Given the description of an element on the screen output the (x, y) to click on. 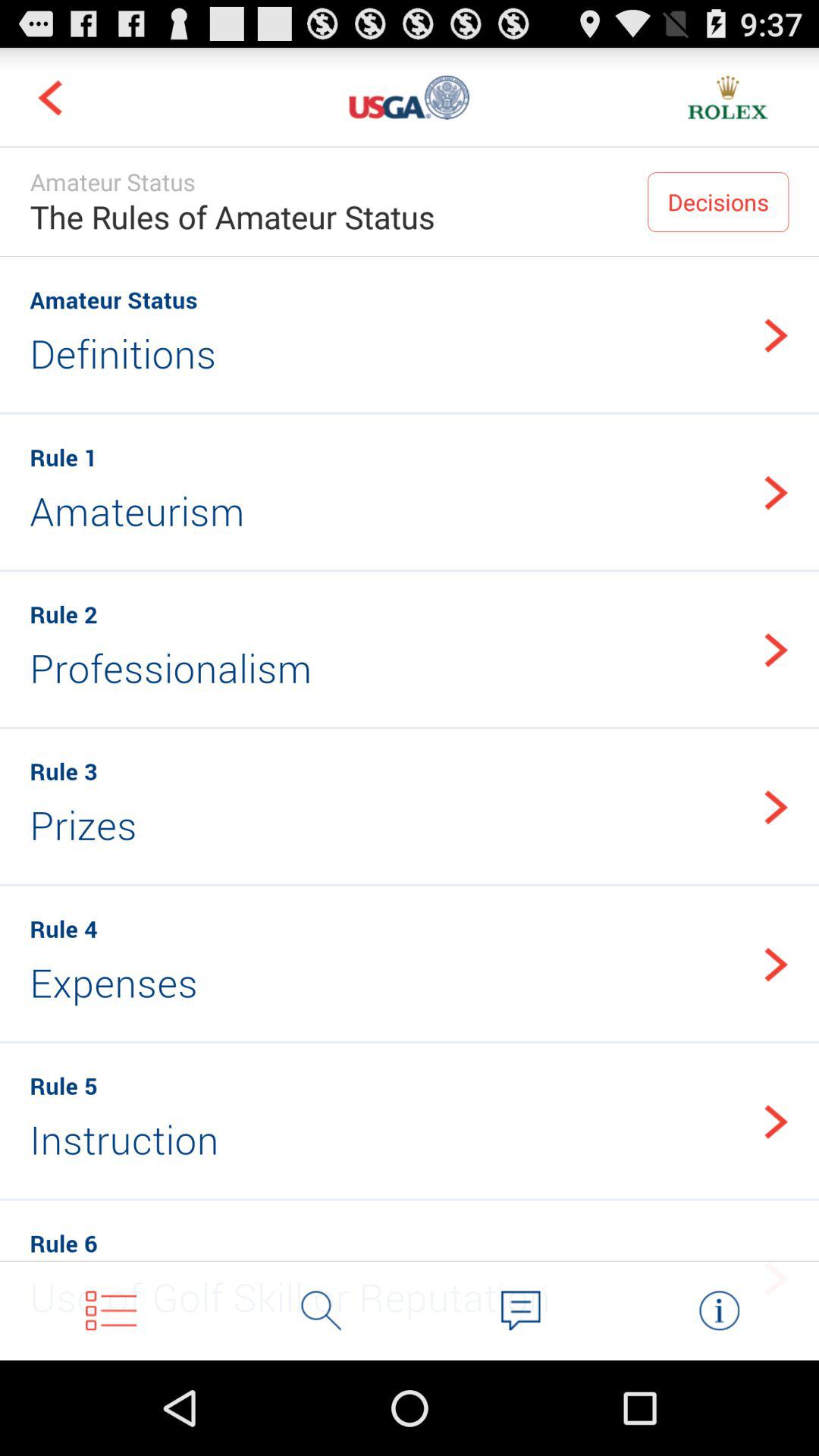
press the decisions item (717, 202)
